Given the description of an element on the screen output the (x, y) to click on. 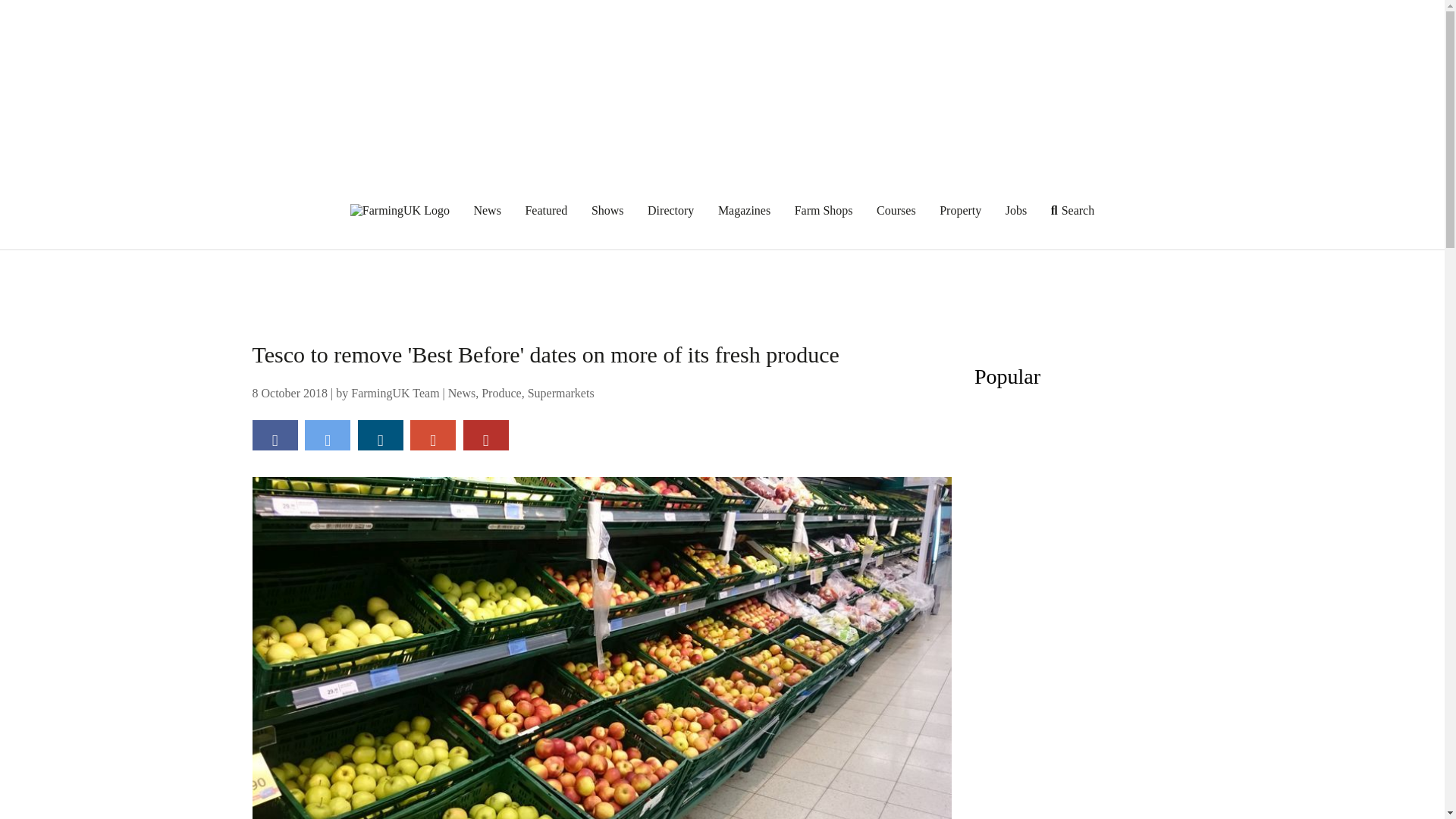
Search (1072, 210)
Share on Facebook (274, 435)
Property (960, 210)
Directory (670, 210)
Featured (545, 210)
Share on Twitter (327, 435)
Courses (895, 210)
3rd party ad content (722, 284)
Farm Shops (823, 210)
Magazines (743, 210)
